Given the description of an element on the screen output the (x, y) to click on. 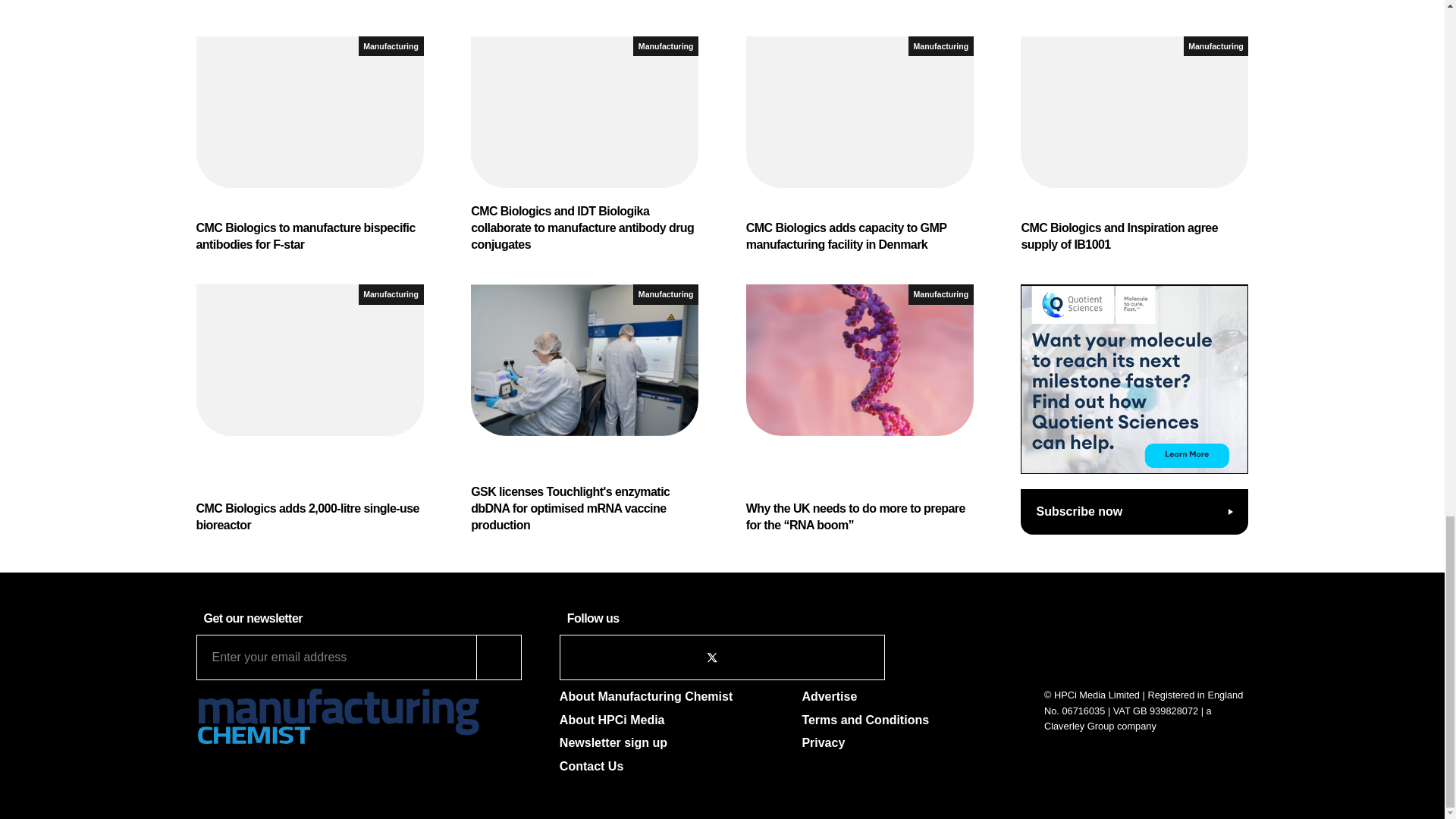
Manufacturing (390, 46)
Manufacturing (665, 46)
Follow Manufacturing Chemist on X (711, 656)
